Given the description of an element on the screen output the (x, y) to click on. 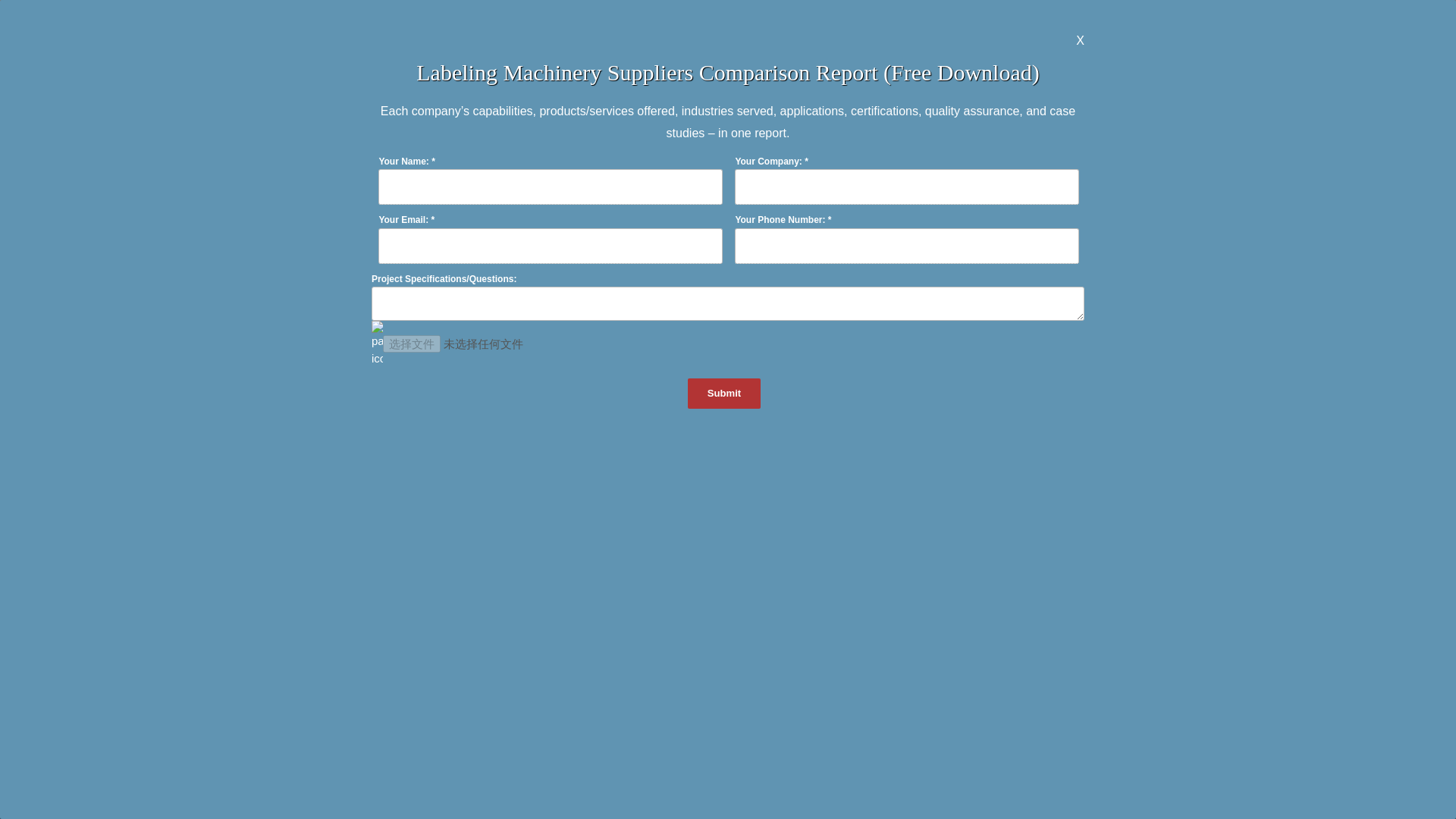
CO2 Lasers (727, 65)
Name Plates (235, 92)
Plastic Bags (1220, 65)
